Given the description of an element on the screen output the (x, y) to click on. 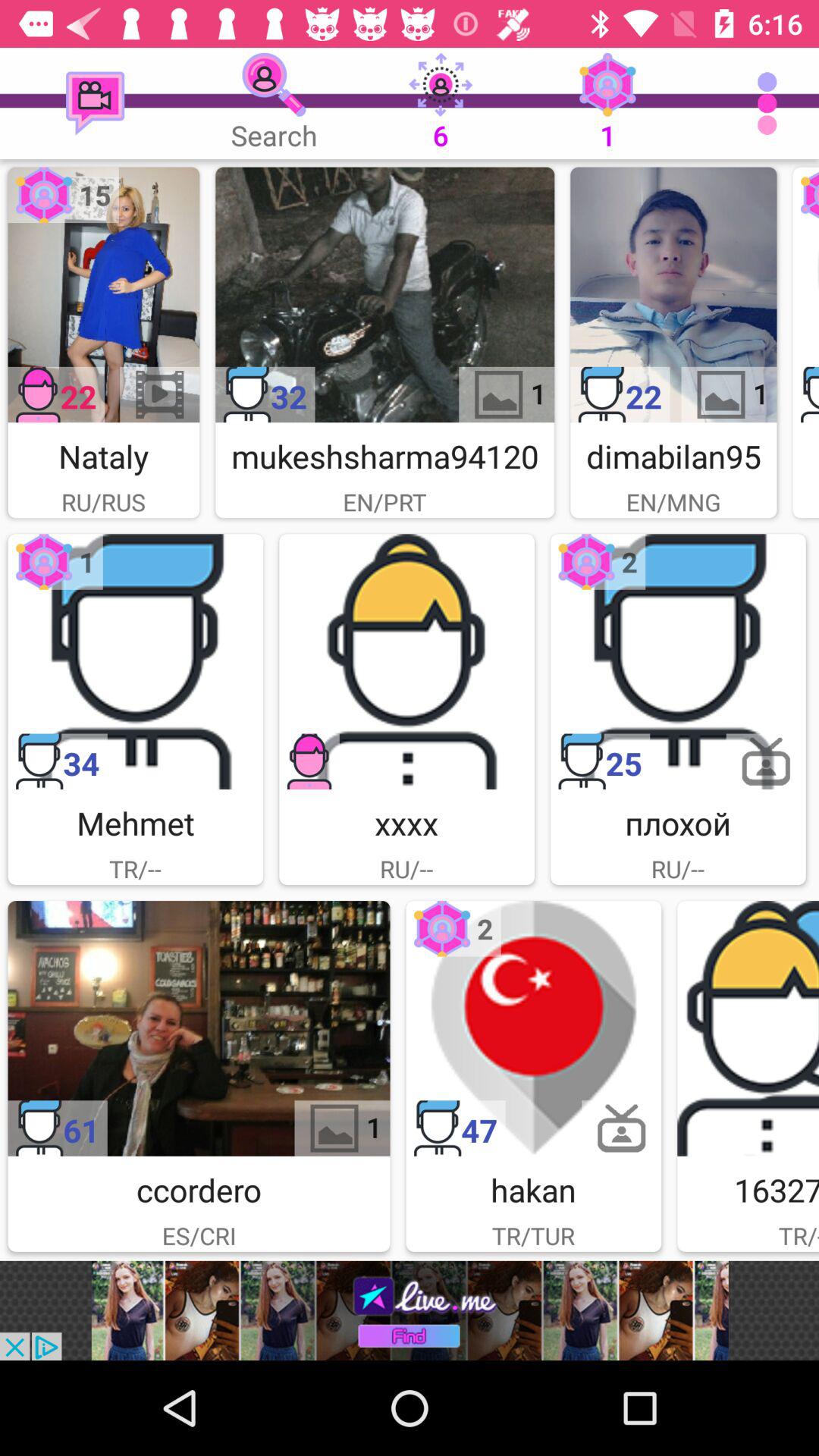
chat with xxxx (406, 661)
